Given the description of an element on the screen output the (x, y) to click on. 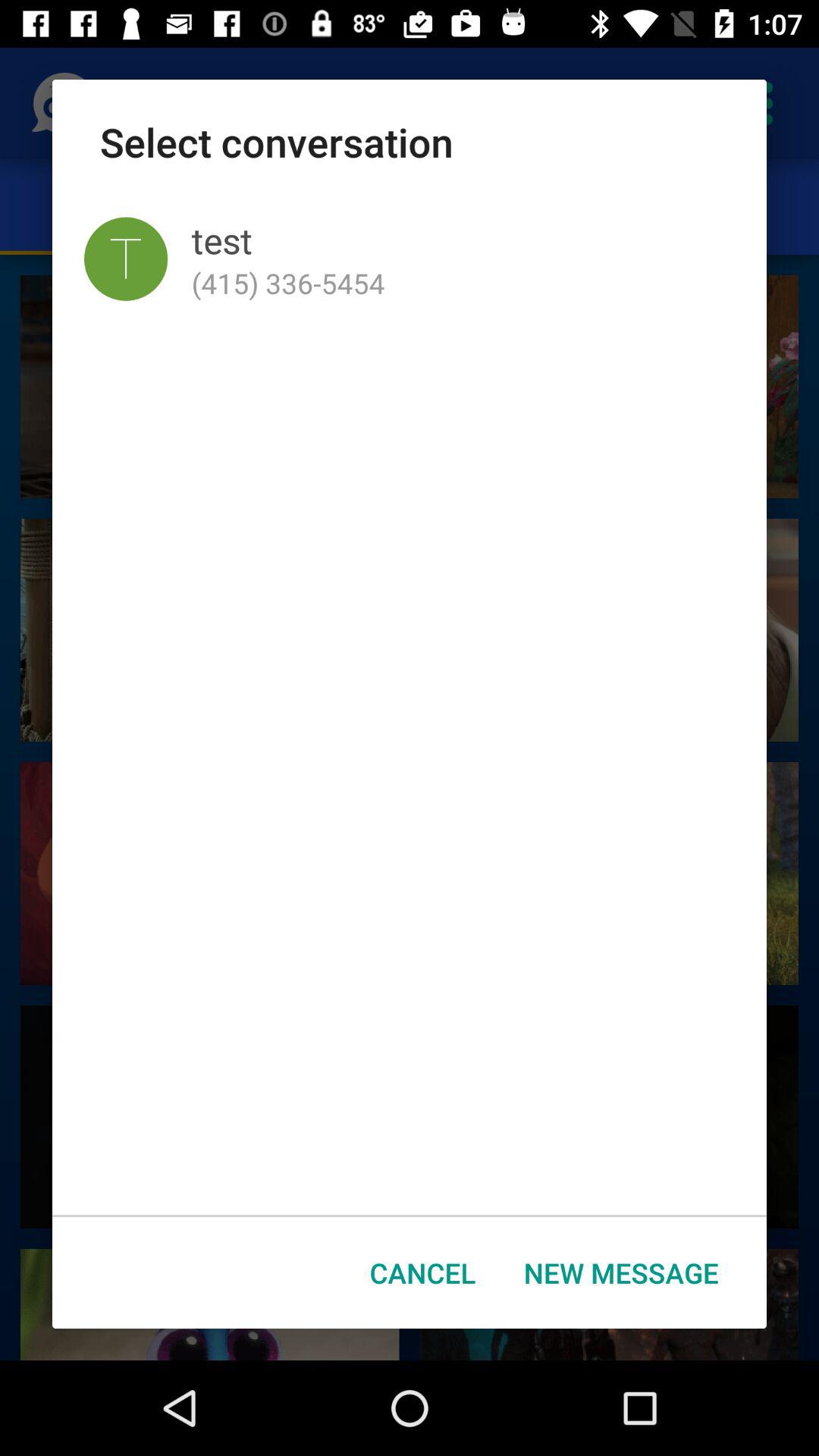
tap app to the left of test icon (125, 258)
